Given the description of an element on the screen output the (x, y) to click on. 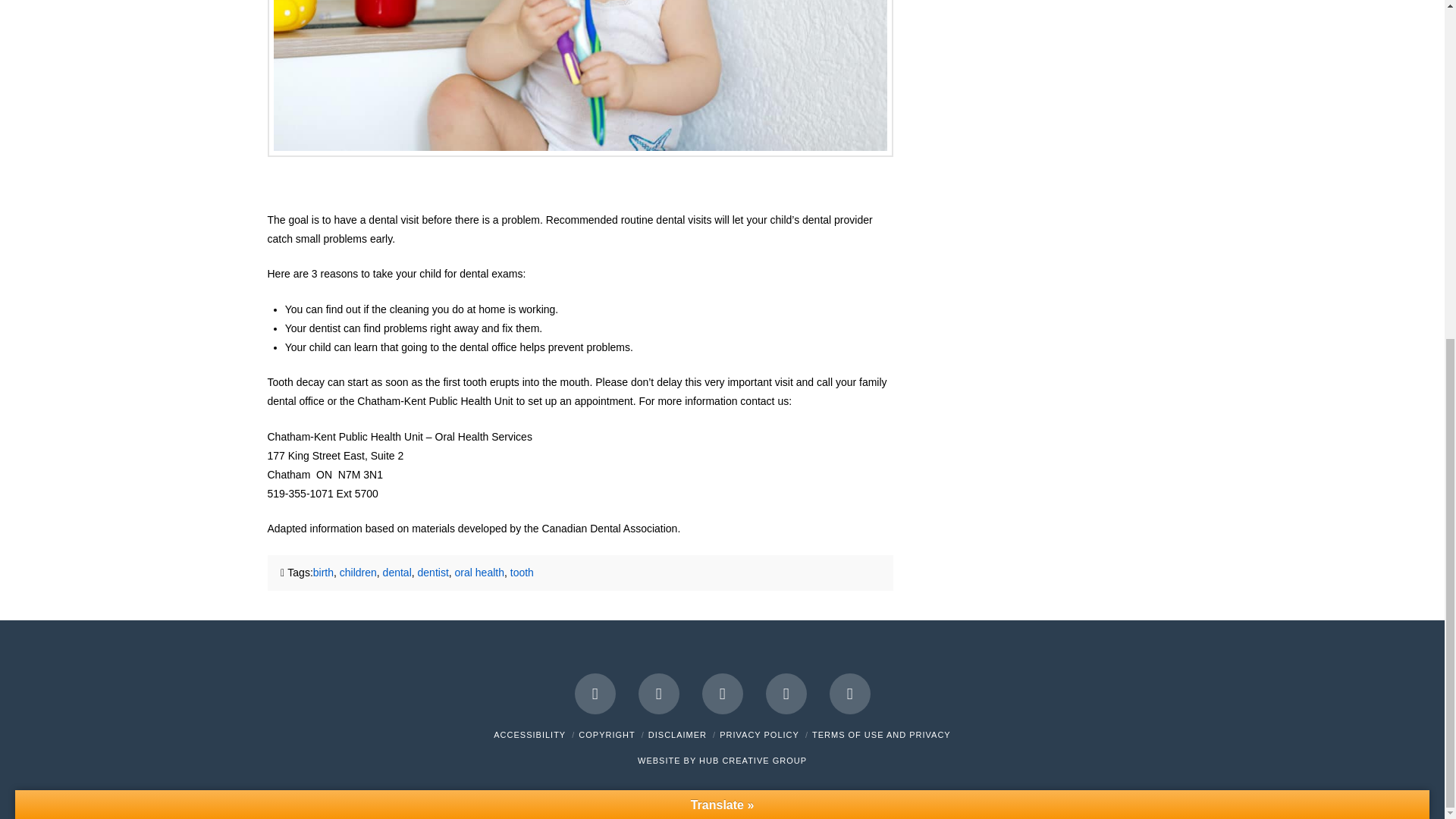
HUB Creative Group (752, 759)
YouTube (721, 693)
Instagram (785, 693)
Facebook (595, 693)
RSS (849, 693)
